Given the description of an element on the screen output the (x, y) to click on. 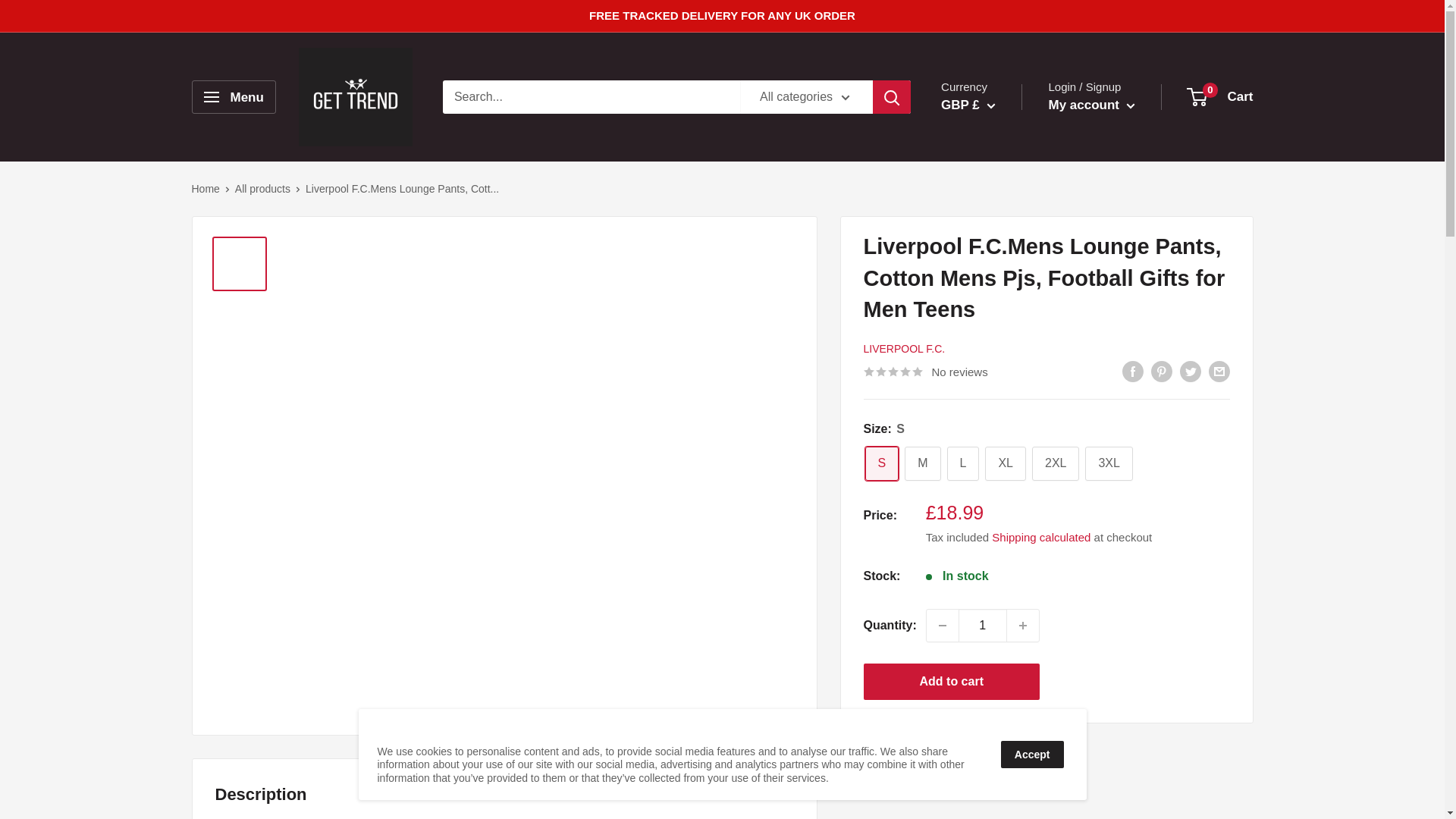
XL (1005, 463)
1 (982, 625)
S (881, 463)
2XL (1055, 463)
Decrease quantity by 1 (942, 625)
3XL (1108, 463)
M (922, 463)
Increase quantity by 1 (1023, 625)
FREE TRACKED DELIVERY FOR ANY UK ORDER (722, 15)
L (962, 463)
